Given the description of an element on the screen output the (x, y) to click on. 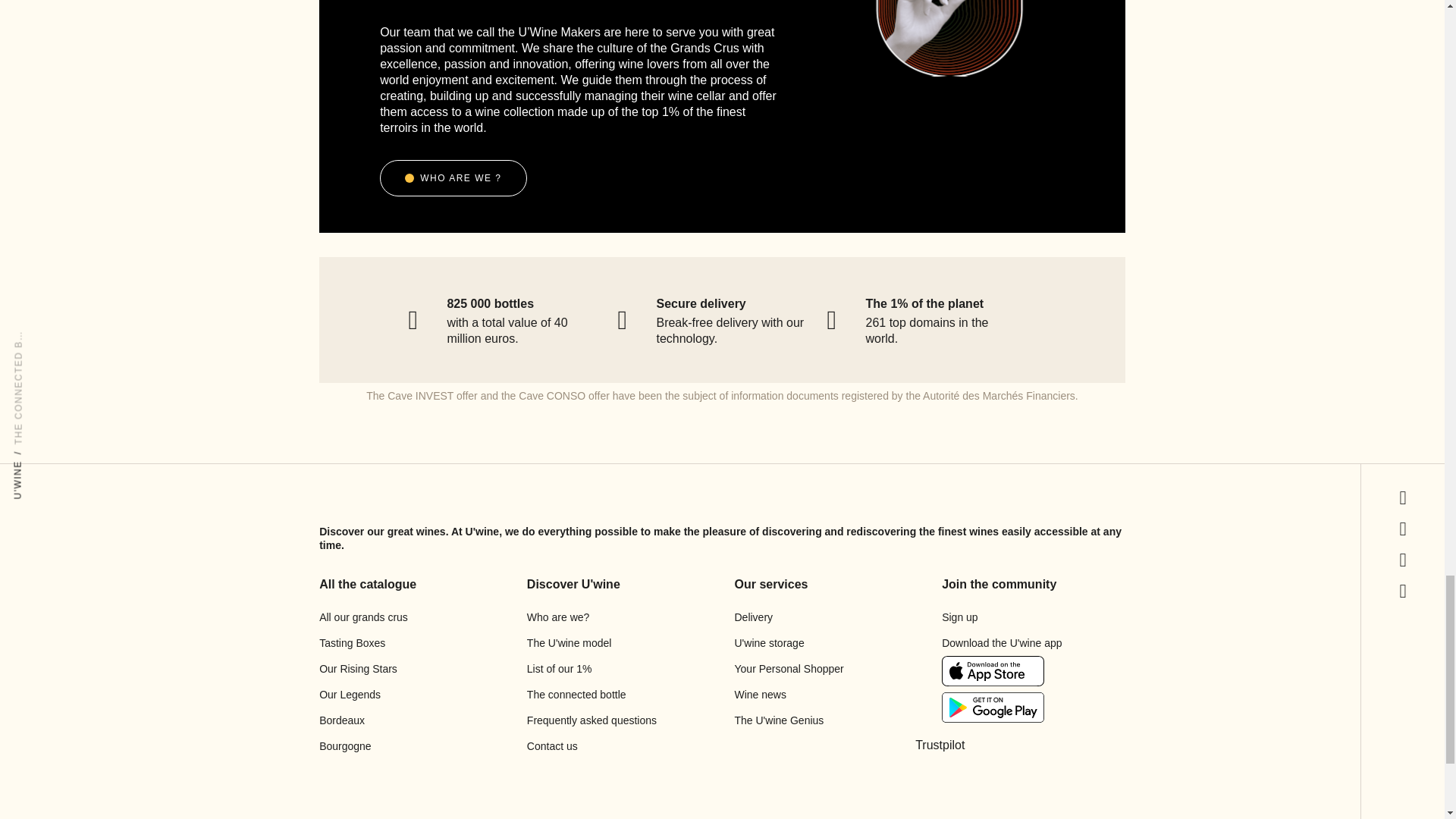
Our Rising Stars (357, 668)
All our grands crus (362, 617)
Tasting Boxes (351, 643)
WHO ARE WE ? (452, 177)
Our Legends (349, 694)
